Given the description of an element on the screen output the (x, y) to click on. 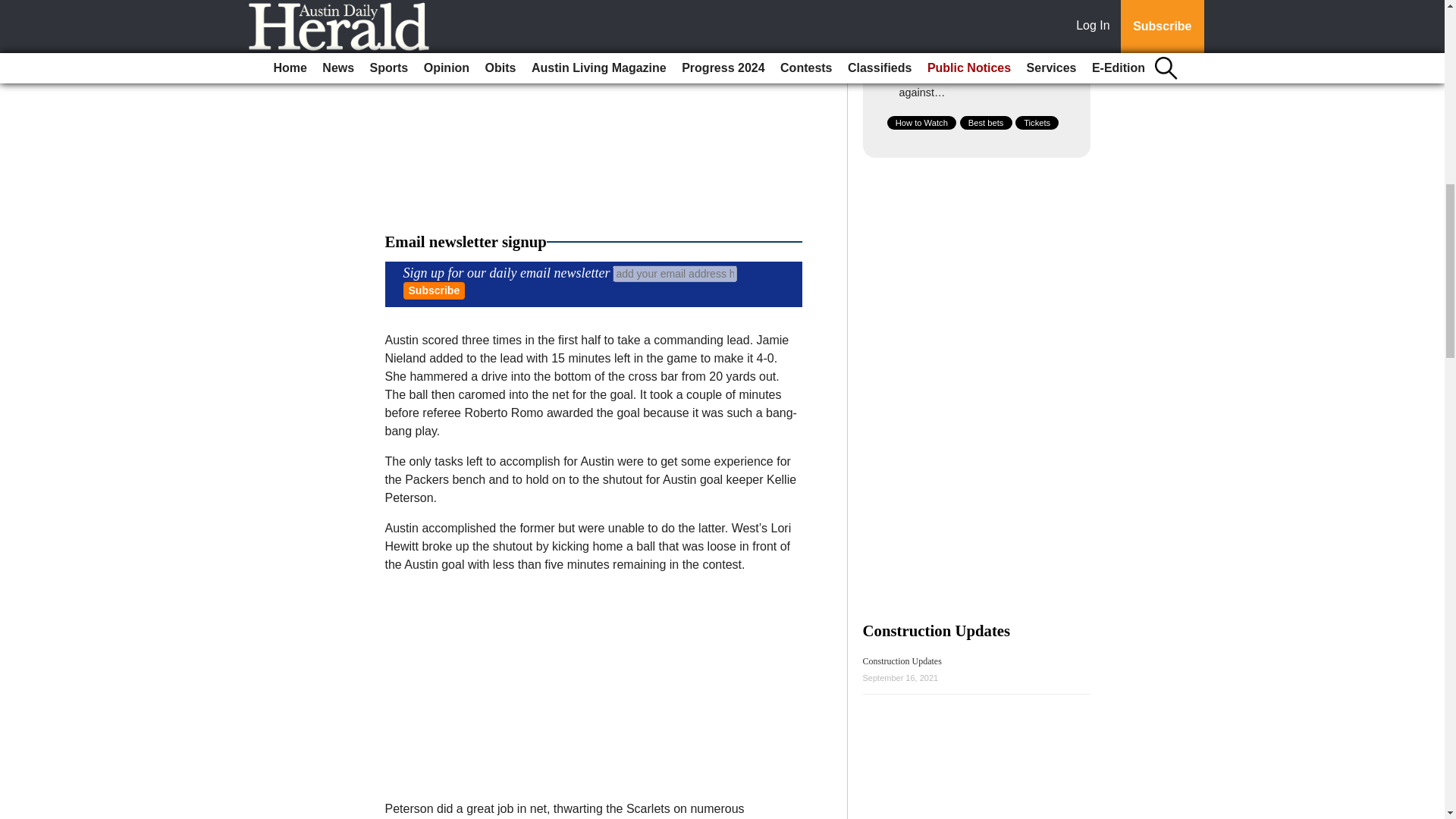
Subscribe (434, 290)
